Given the description of an element on the screen output the (x, y) to click on. 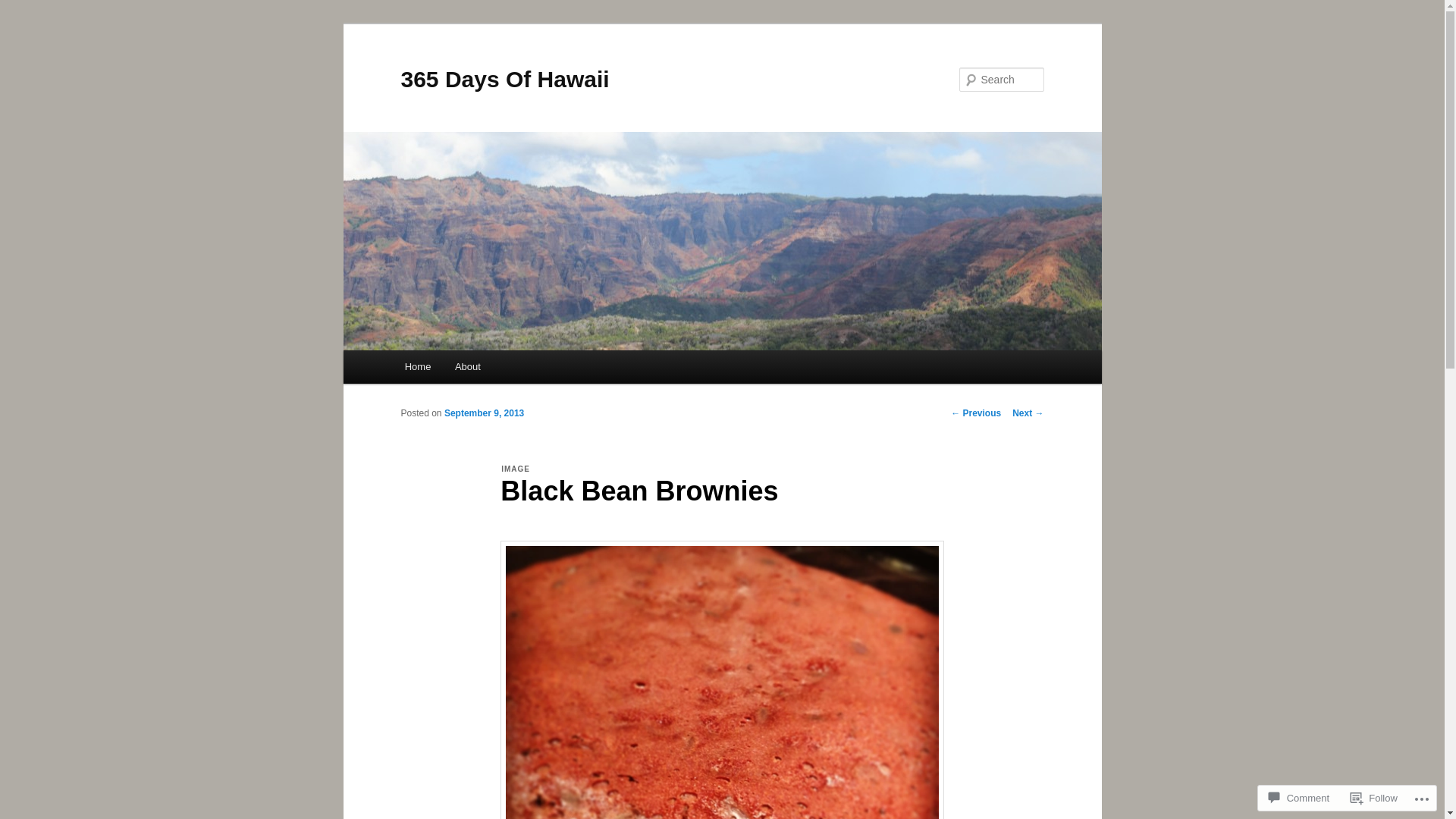
Search Element type: text (24, 8)
September 9, 2013 Element type: text (484, 412)
IMAGE Element type: text (515, 468)
Follow Element type: text (1373, 797)
About Element type: text (467, 366)
Skip to primary content Element type: text (22, 22)
Comment Element type: text (1298, 797)
365 Days Of Hawaii Element type: text (504, 78)
Home Element type: text (417, 366)
